Given the description of an element on the screen output the (x, y) to click on. 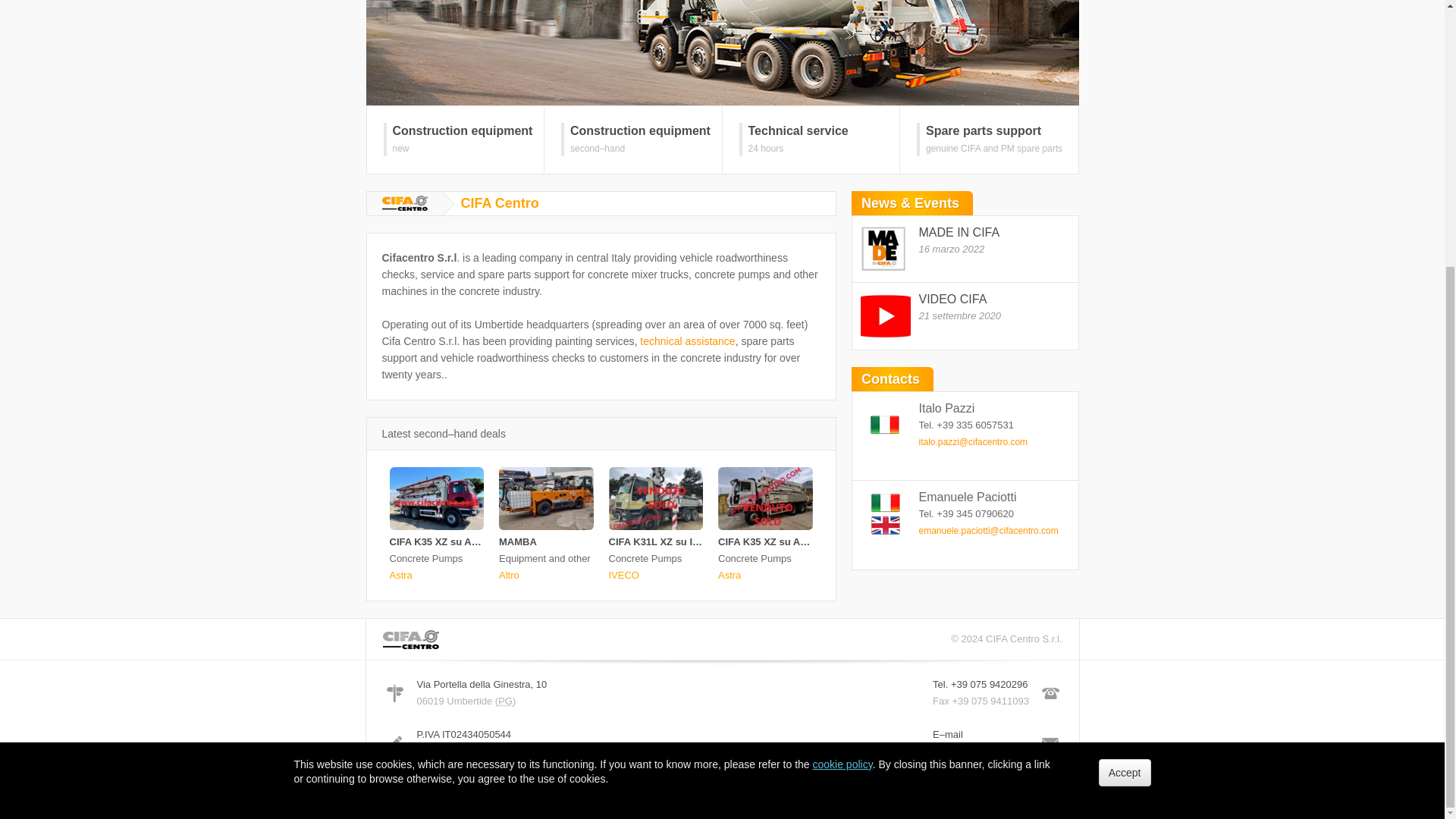
Perugia (504, 700)
CIFA K35 XZ su ASTRA 64.44 (964, 248)
technical assistance (785, 541)
CIFA K31L XZ su IVECO TRAKKER (687, 340)
MAMBA (689, 541)
CIFA K35 XZ su ASTRA 64.38 (518, 541)
